Given the description of an element on the screen output the (x, y) to click on. 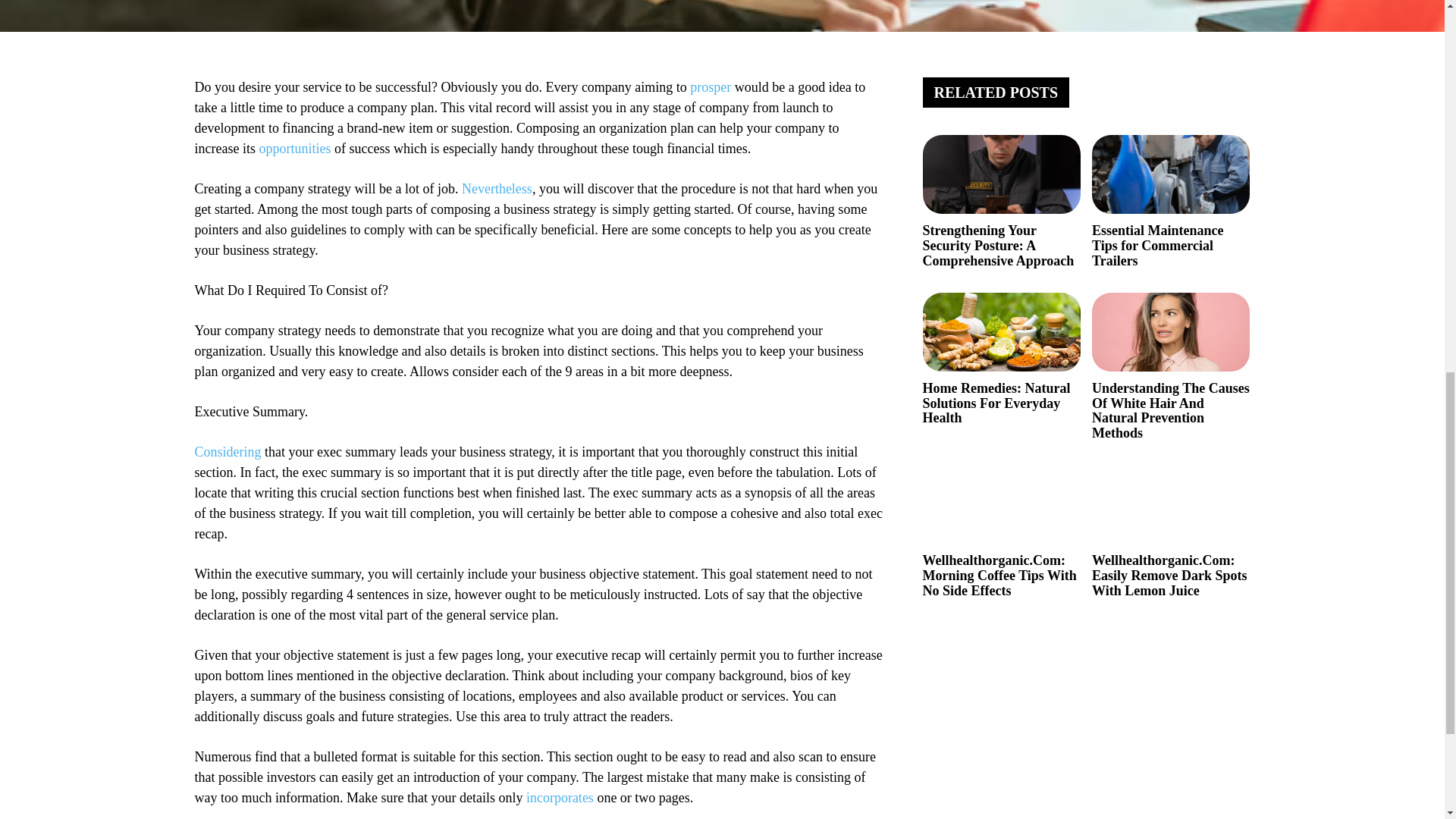
Essential Maintenance Tips for Commercial Trailers (1170, 174)
Considering (226, 451)
Nevertheless (496, 188)
incorporates (559, 797)
prosper (710, 87)
Home Remedies: Natural Solutions For Everyday Health (995, 402)
Essential Maintenance Tips for Commercial Trailers (1158, 245)
Home Remedies: Natural Solutions For Everyday Health (1000, 331)
opportunities (294, 148)
